Given the description of an element on the screen output the (x, y) to click on. 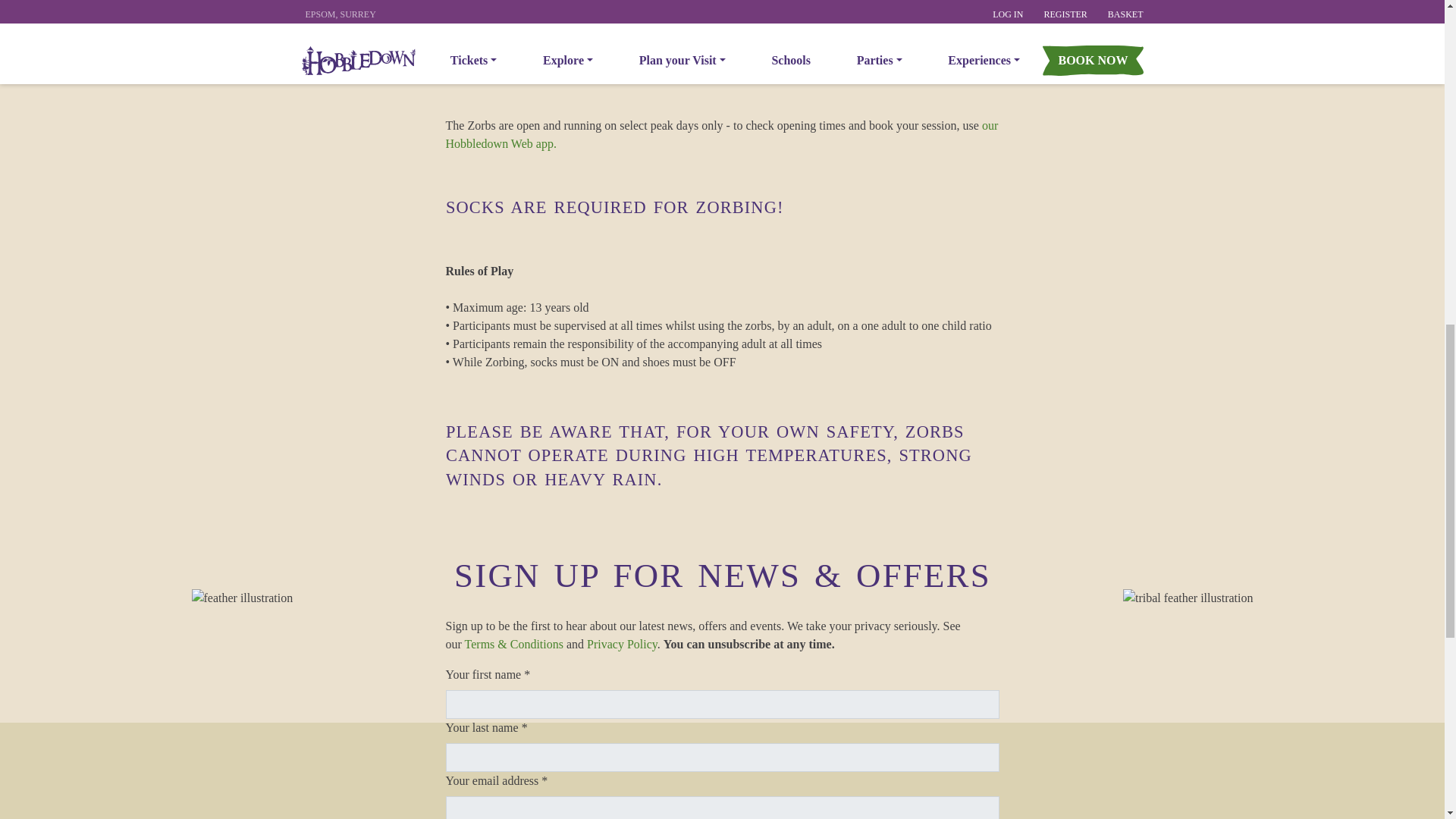
Terms of Us (721, 7)
Privacy Policy (513, 644)
